Given the description of an element on the screen output the (x, y) to click on. 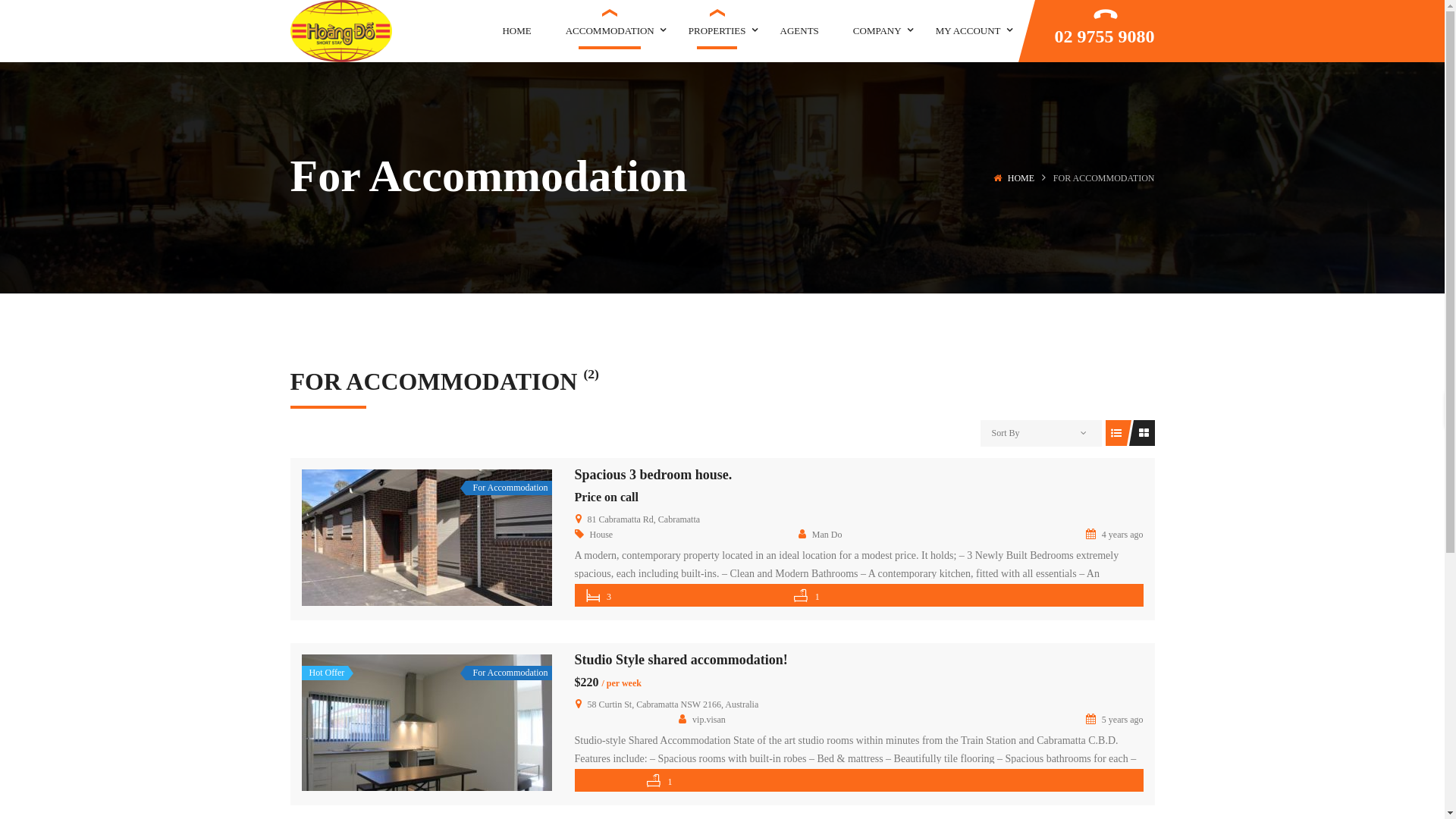
AGENTS Element type: text (799, 30)
58 Curtin St, Cabramatta NSW 2166, Australia Element type: text (672, 704)
View as List Element type: hover (1115, 432)
81 Cabramatta Rd, Cabramatta Element type: text (642, 519)
Studio Style shared accommodation! Element type: text (680, 659)
Studio Style shared accommodation! Element type: hover (426, 722)
Spacious 3 bedroom house. Element type: hover (426, 537)
HOME Element type: text (1020, 177)
House Element type: text (601, 534)
View as Grid Element type: hover (1143, 432)
PROPERTIES Element type: text (717, 30)
HOME Element type: text (516, 30)
MY ACCOUNT Element type: text (968, 30)
COMPANY Element type: text (877, 30)
ACCOMMODATION Element type: text (609, 30)
vip.visan Element type: text (701, 719)
Spacious 3 bedroom house. Element type: text (653, 474)
